Given the description of an element on the screen output the (x, y) to click on. 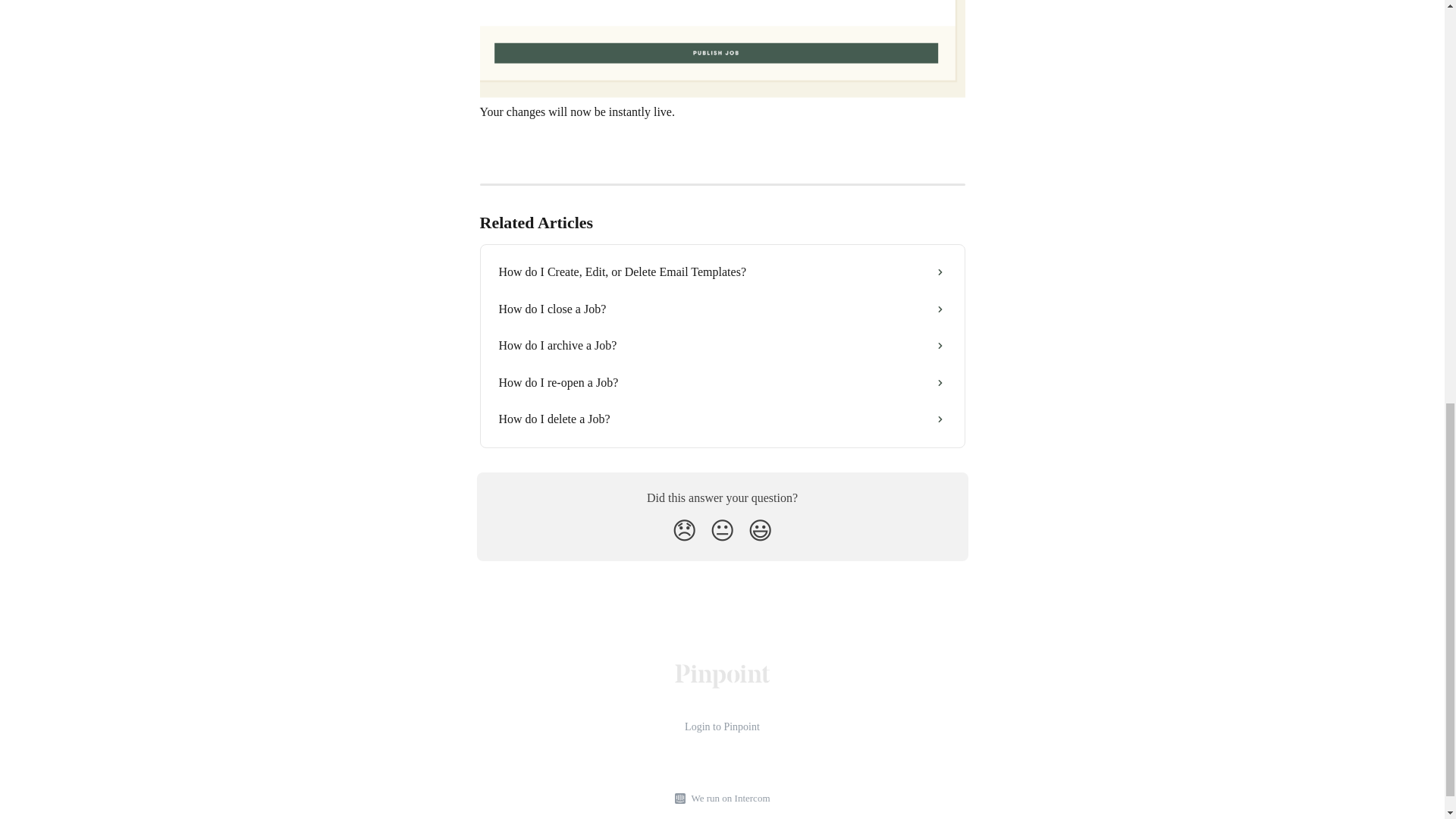
Login to Pinpoint (722, 726)
Disappointed (684, 530)
Neutral (722, 530)
How do I close a Job? (722, 309)
How do I re-open a Job? (722, 382)
How do I archive a Job? (722, 345)
How do I Create, Edit, or Delete Email Templates? (722, 271)
How do I delete a Job? (722, 419)
Smiley (760, 530)
We run on Intercom (727, 798)
